Given the description of an element on the screen output the (x, y) to click on. 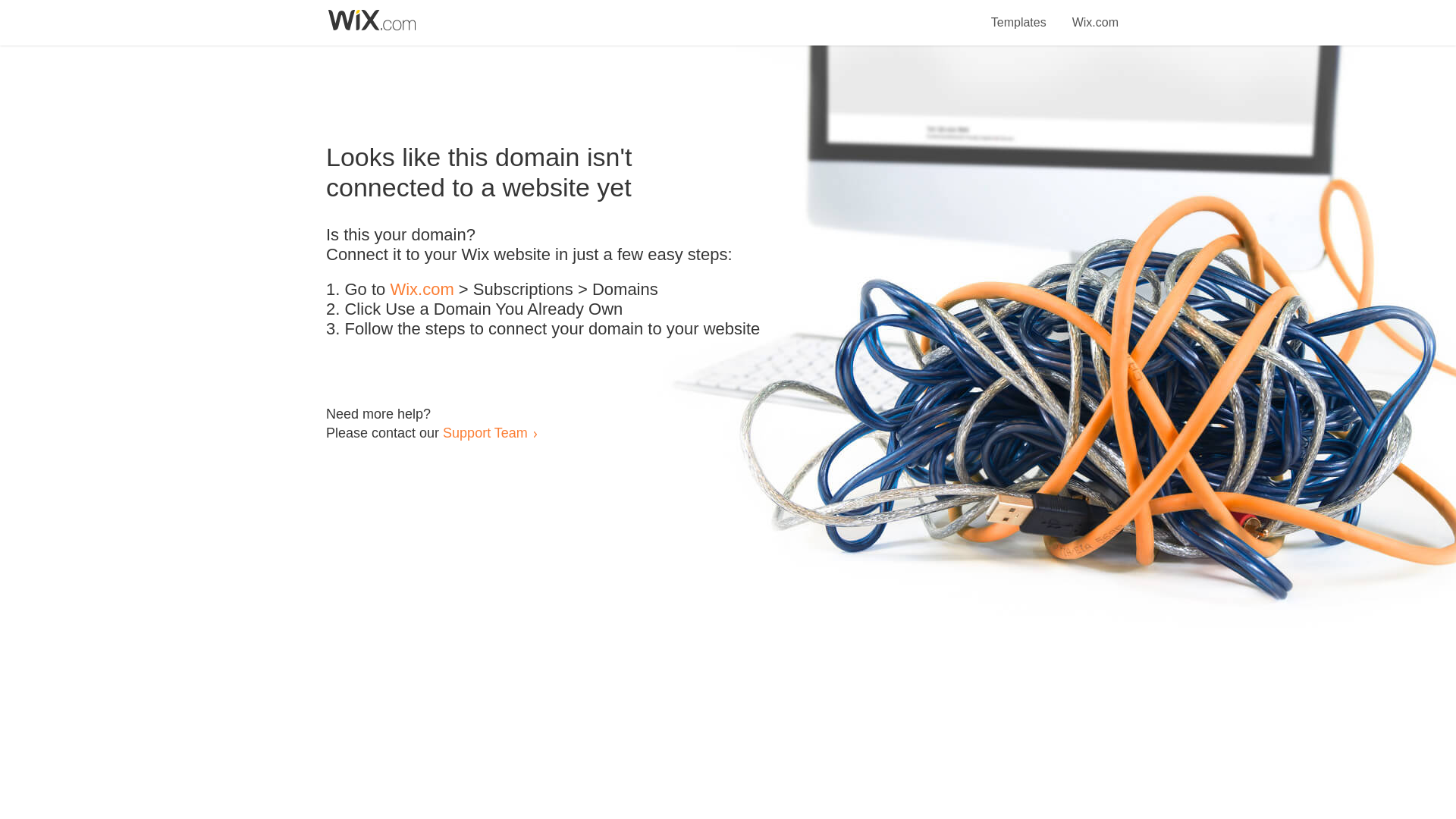
Wix.com (1095, 14)
Wix.com (421, 289)
Support Team (484, 432)
Templates (1018, 14)
